Given the description of an element on the screen output the (x, y) to click on. 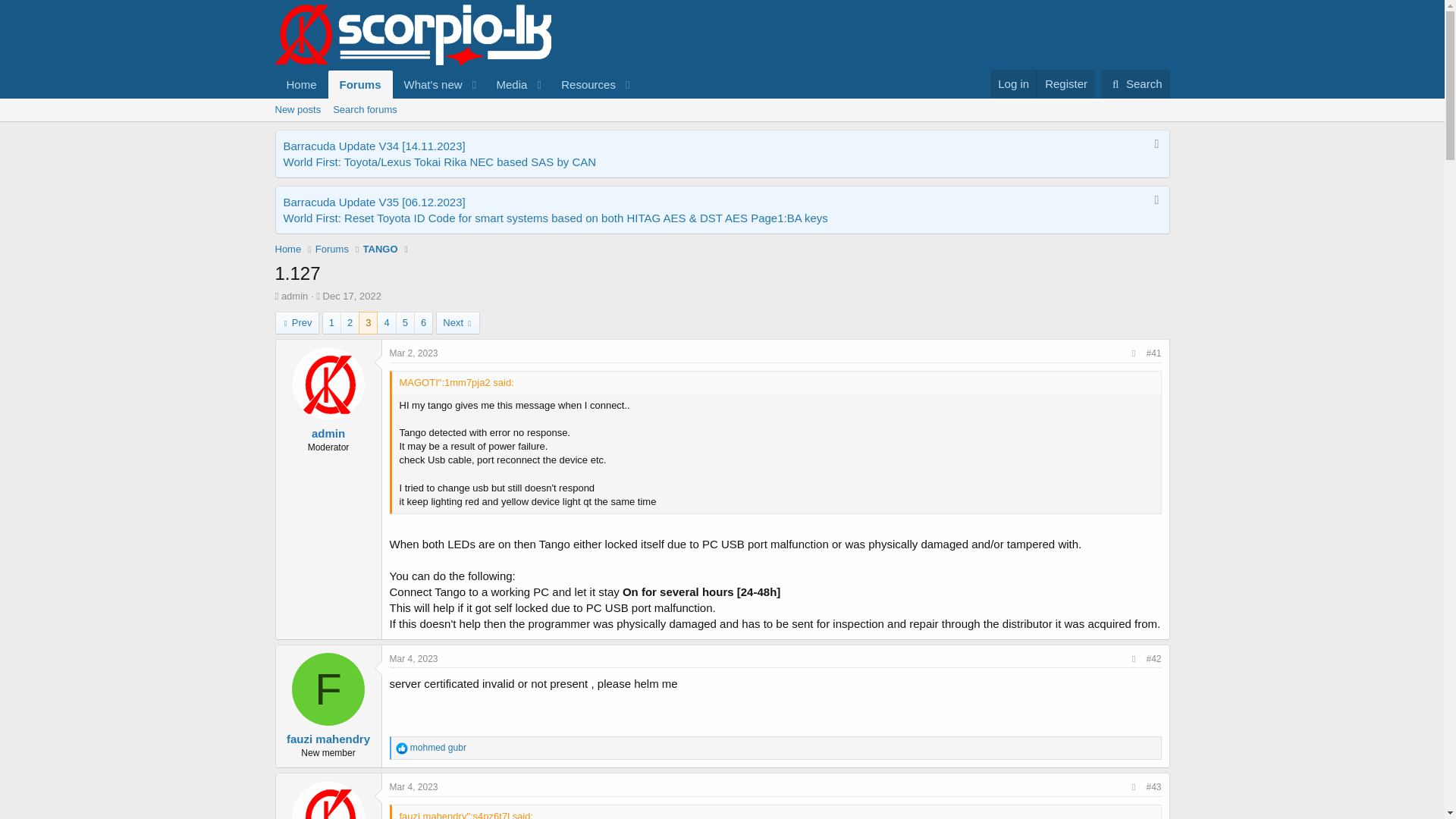
Search (1135, 83)
Home (301, 84)
Mar 4, 2023 at 1:02 PM (414, 787)
Log in (1013, 83)
Mar 2, 2023 at 9:20 AM (414, 353)
What's new (428, 84)
Like (401, 748)
Forums (361, 84)
New posts (296, 109)
Mar 4, 2023 at 11:49 AM (414, 658)
